Given the description of an element on the screen output the (x, y) to click on. 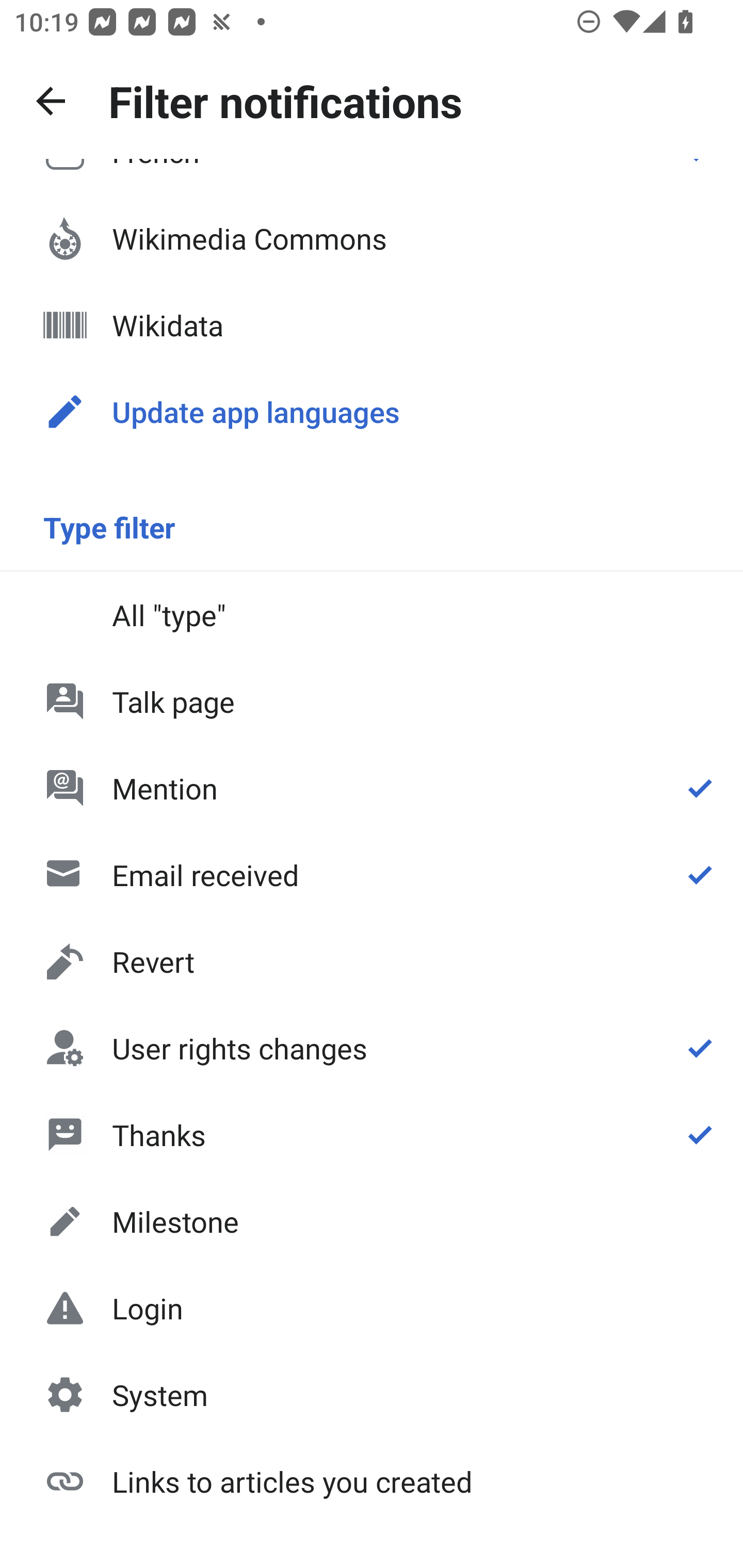
Navigate up (50, 101)
Wikimedia Commons (371, 238)
Wikidata (371, 325)
Update app languages (371, 411)
All "type" (371, 614)
Talk page (371, 701)
Mention (371, 787)
Email received (371, 874)
Revert (371, 961)
User rights changes (371, 1048)
Thanks (371, 1134)
Milestone (371, 1221)
Login (371, 1308)
System (371, 1394)
Links to articles you created (371, 1480)
